Given the description of an element on the screen output the (x, y) to click on. 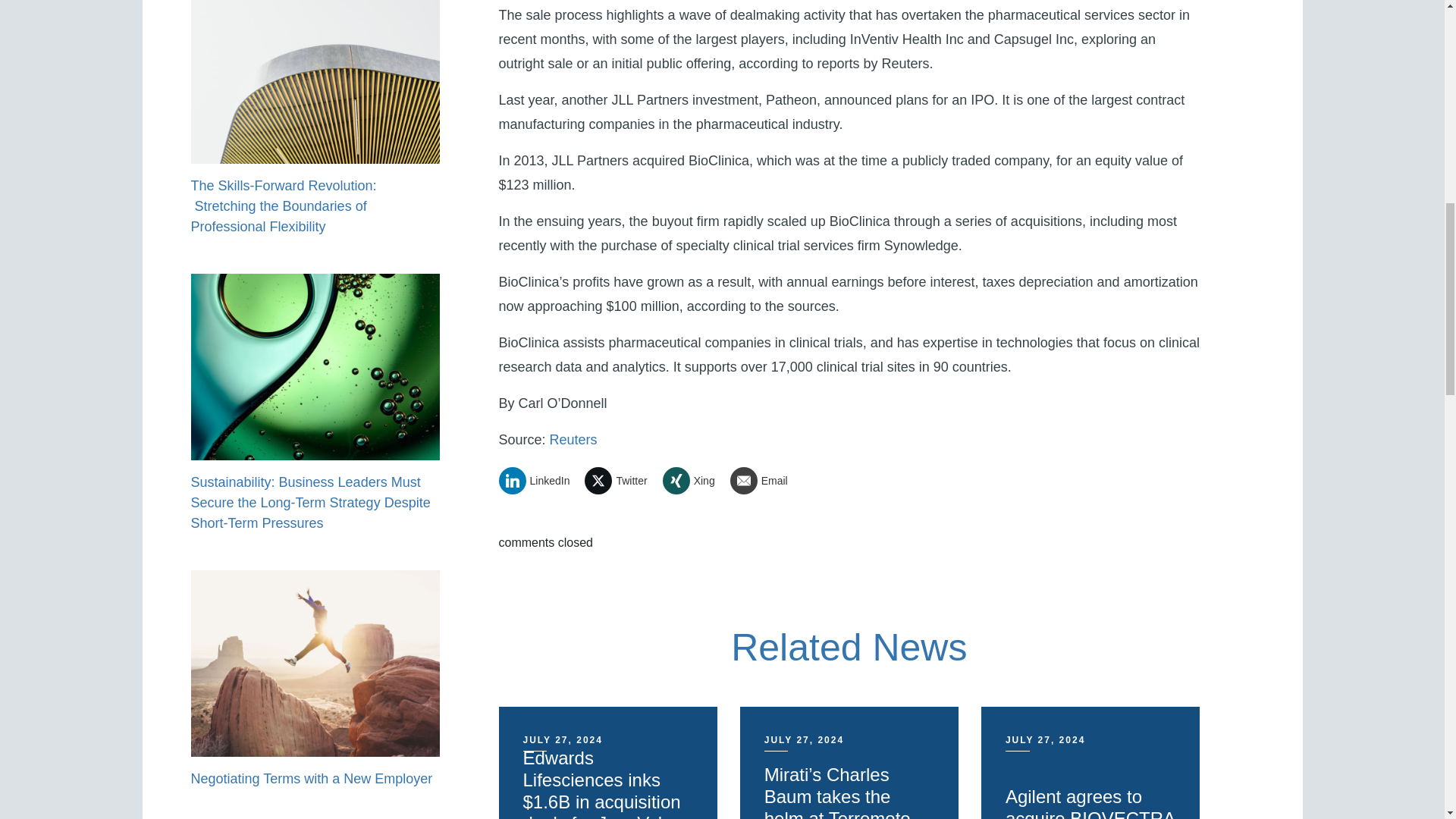
Share on Twitter (621, 480)
Negotiating Terms with a New Employer (311, 778)
Share on LinkedIn (539, 480)
LinkedIn (539, 480)
Reuters (573, 439)
Share on Email (764, 480)
Share on Xing (694, 480)
